Given the description of an element on the screen output the (x, y) to click on. 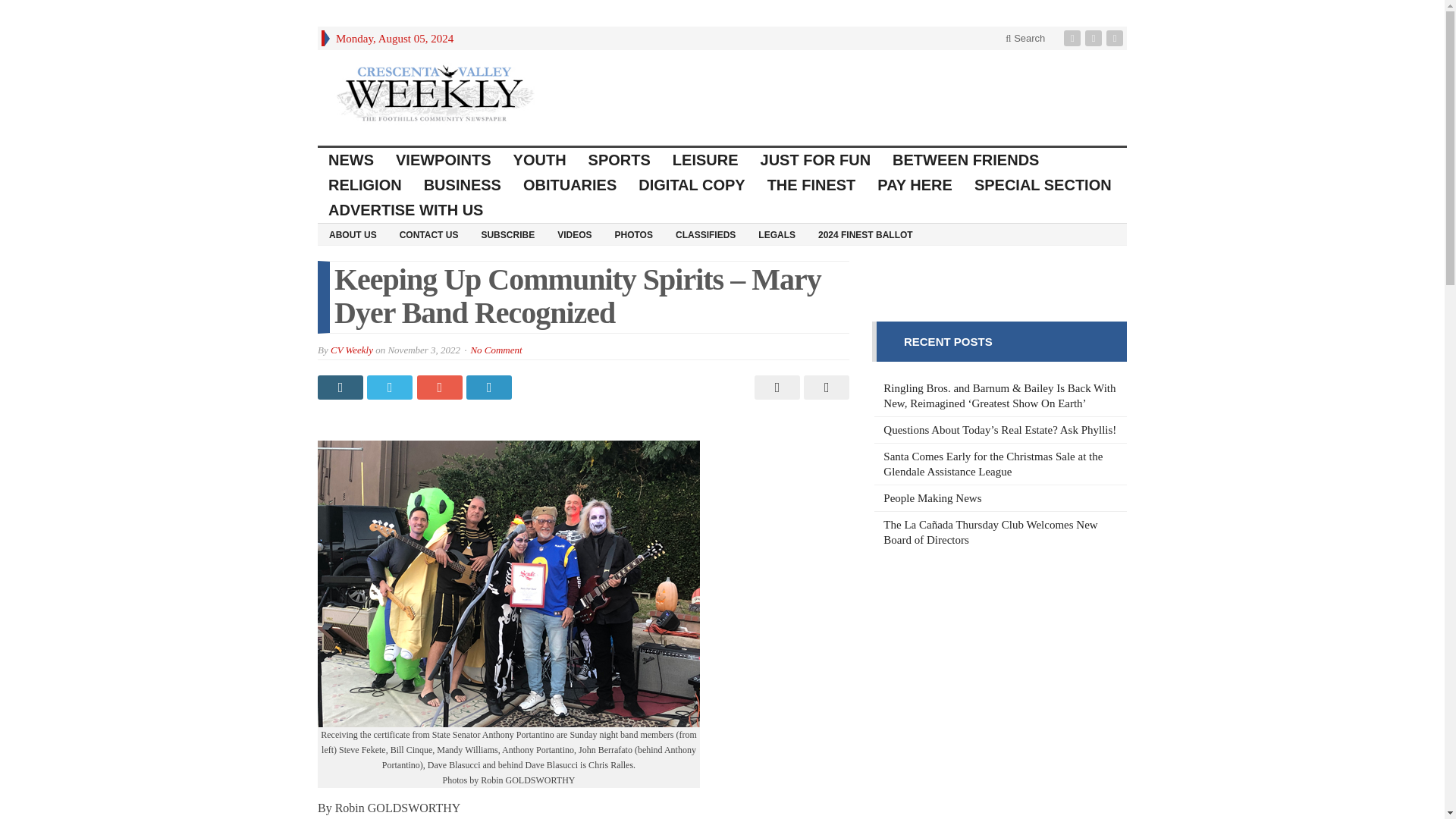
CLASSIFIEDS (704, 233)
Print This Post (775, 387)
DIGITAL COPY (691, 185)
Share on LinkedIn (490, 387)
Search (1024, 37)
YOUTH (540, 160)
BETWEEN FRIENDS (965, 160)
PAY HERE (914, 185)
The Foothills Community Newspaper (435, 93)
Twitter (1094, 37)
LEGALS (776, 233)
RELIGION (365, 185)
Facebook (1073, 37)
Site feed (1115, 37)
Share on Twitter (391, 387)
